Given the description of an element on the screen output the (x, y) to click on. 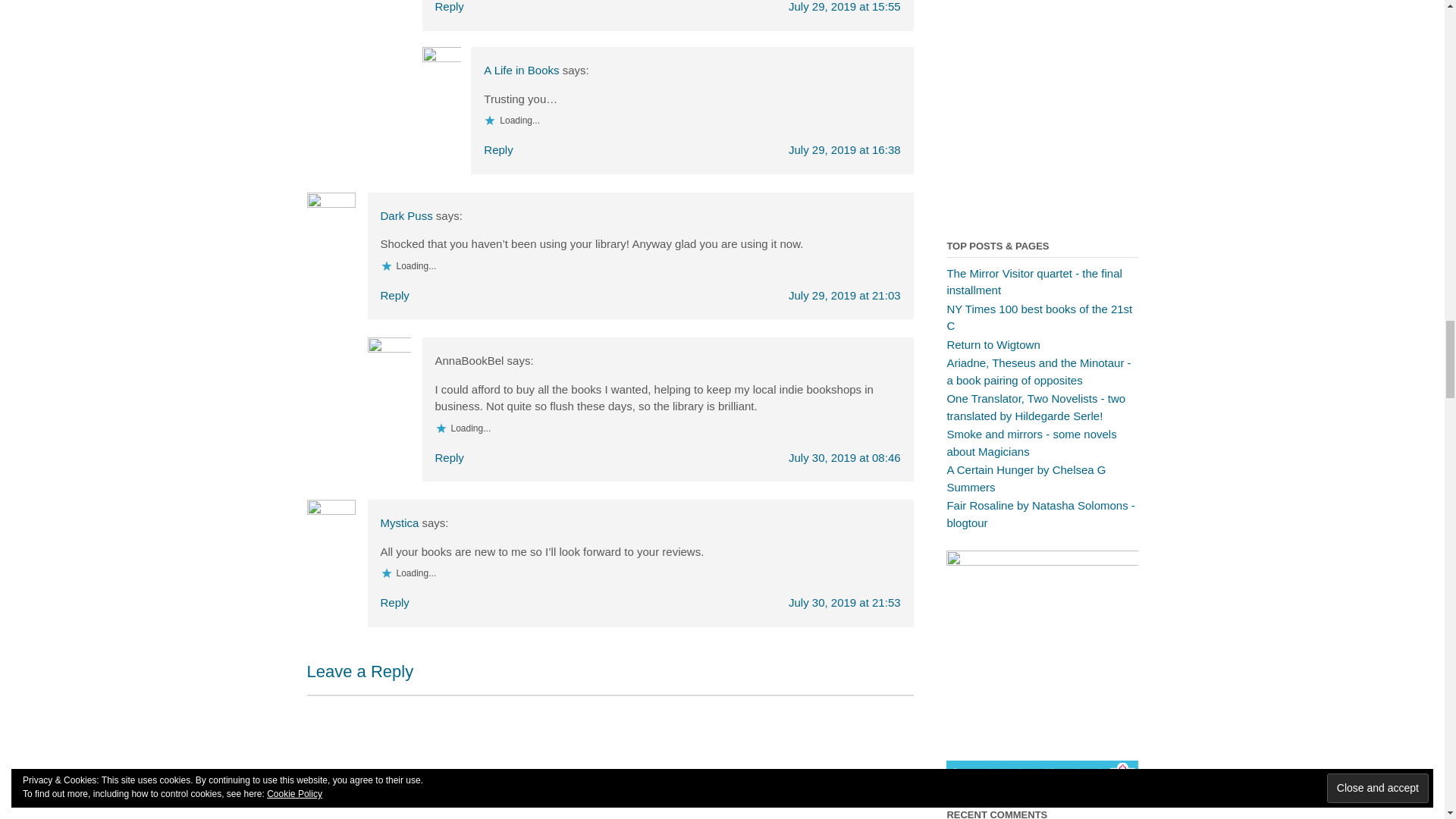
Comment Form (608, 756)
